Given the description of an element on the screen output the (x, y) to click on. 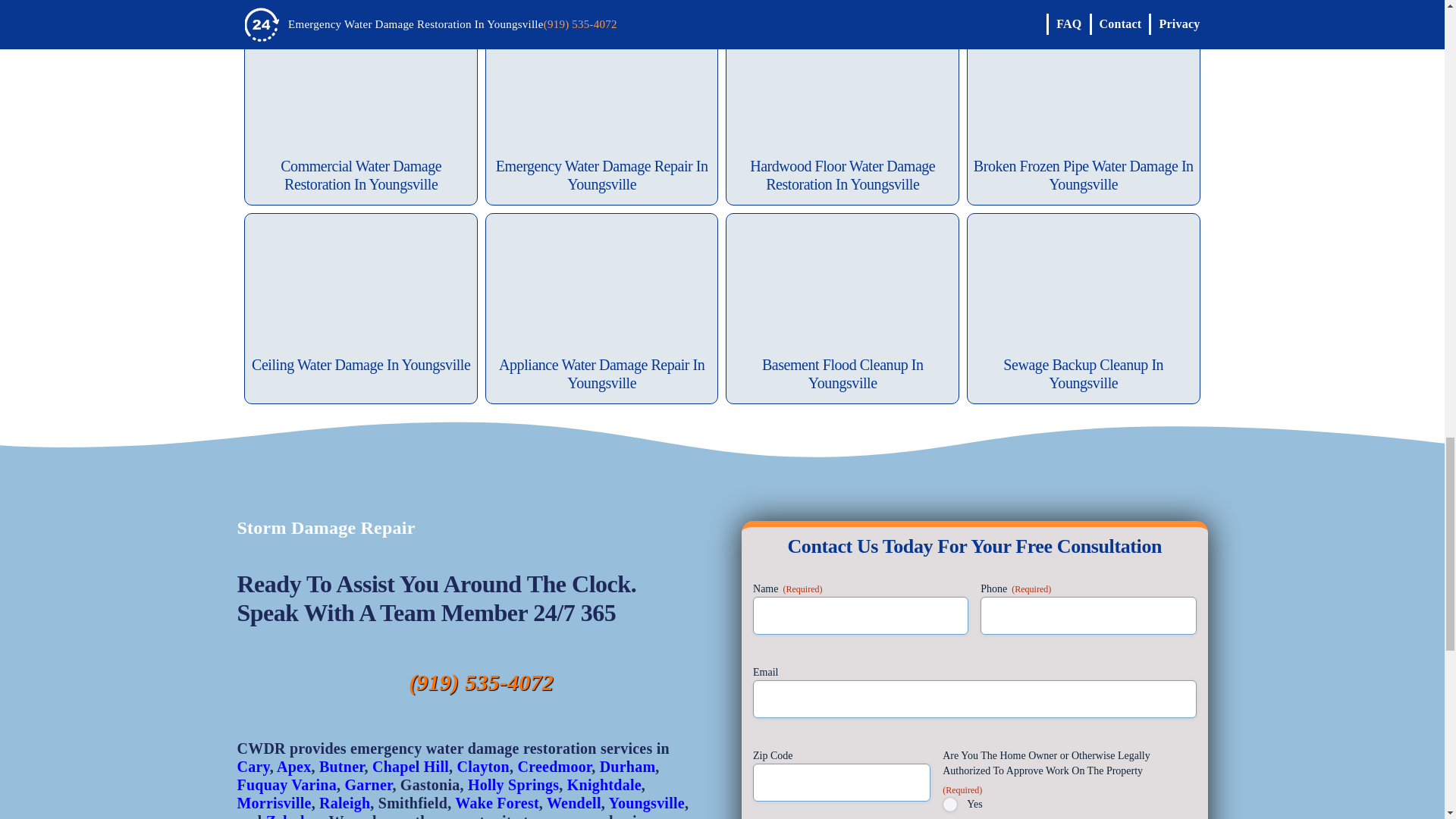
Yes (950, 804)
